Given the description of an element on the screen output the (x, y) to click on. 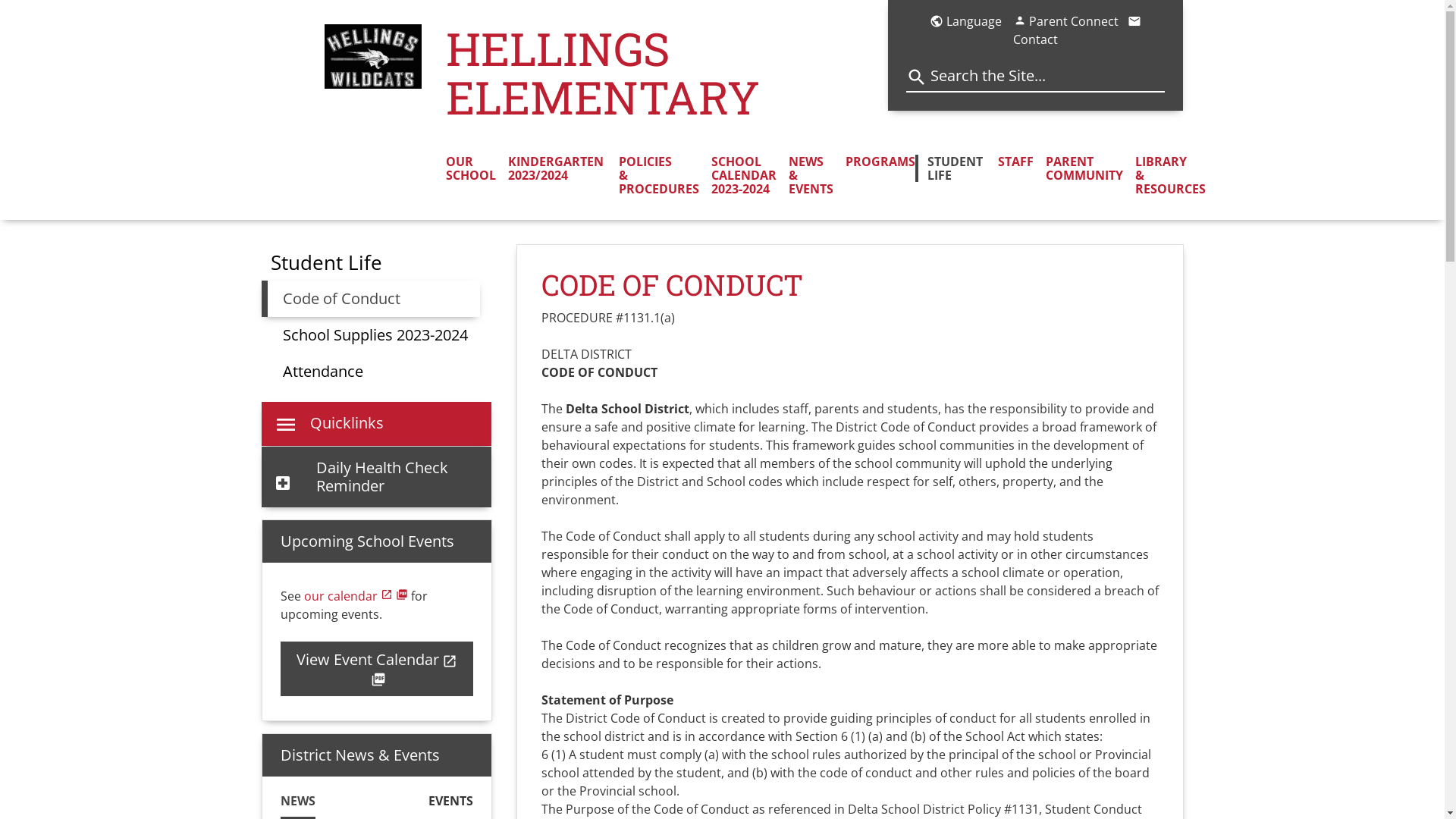
HELLINGS ELEMENTARY Element type: text (666, 72)
OUR 
SCHOOL Element type: text (470, 168)
PROGRAMS Element type: text (874, 161)
Student Life Element type: text (325, 262)
STAFF Element type: text (1009, 161)
SCHOOL 
CALENDAR 2023-2024 Element type: text (737, 174)
LIBRARY 
& RESOURCES Element type: text (1164, 174)
KINDERGARTEN 
2023/2024 Element type: text (550, 168)
POLICIES 
& PROCEDURES Element type: text (652, 174)
School Supplies 2023-2024 Element type: text (374, 334)
STUDENT 
LIFE Element type: text (950, 168)
NEWS 
& EVENTS Element type: text (804, 174)
PARENT 
COMMUNITY Element type: text (1078, 168)
Attendance Element type: text (322, 371)
Code of Conduct Element type: text (369, 298)
